Given the description of an element on the screen output the (x, y) to click on. 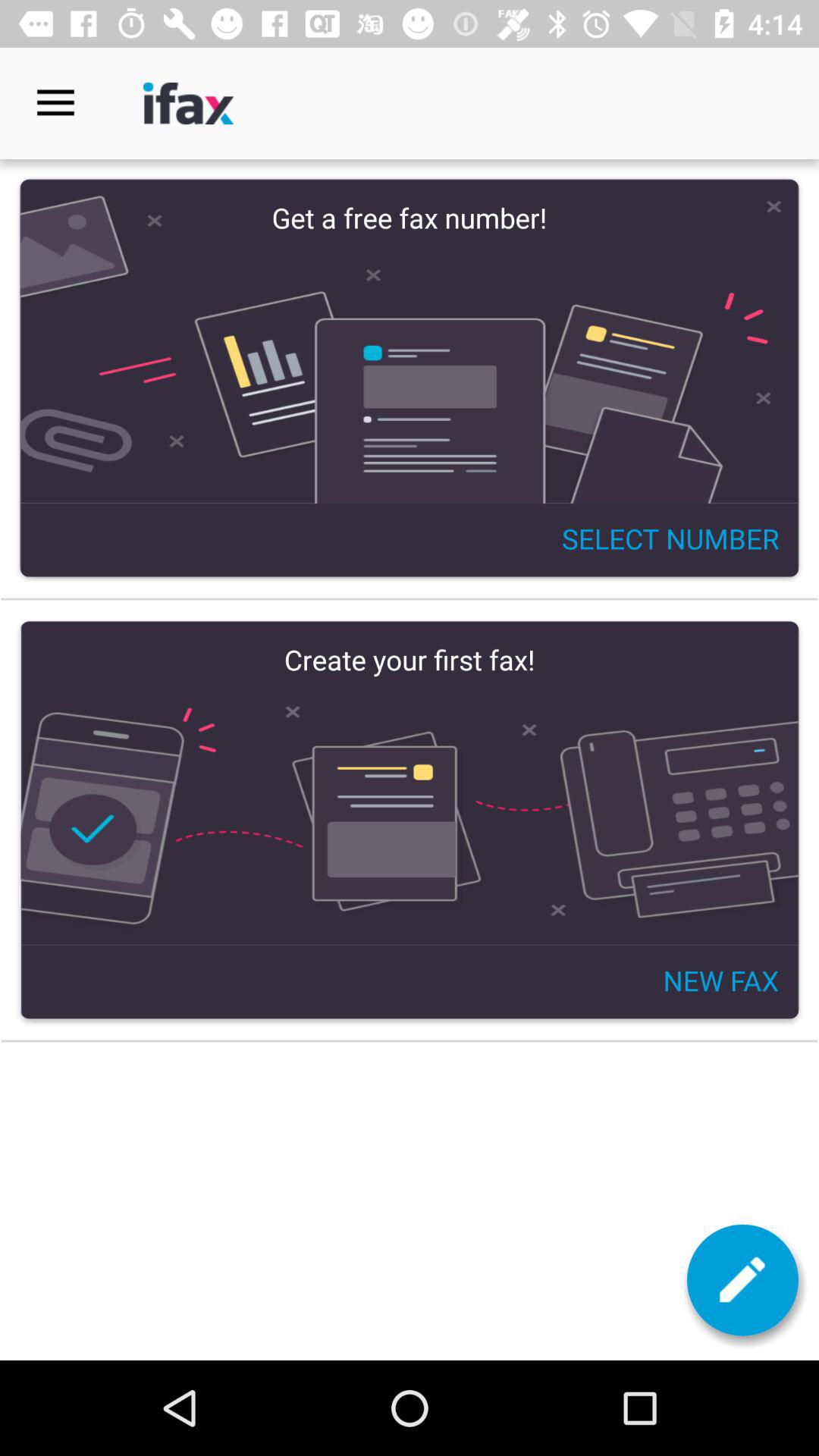
create new fax (742, 1280)
